Given the description of an element on the screen output the (x, y) to click on. 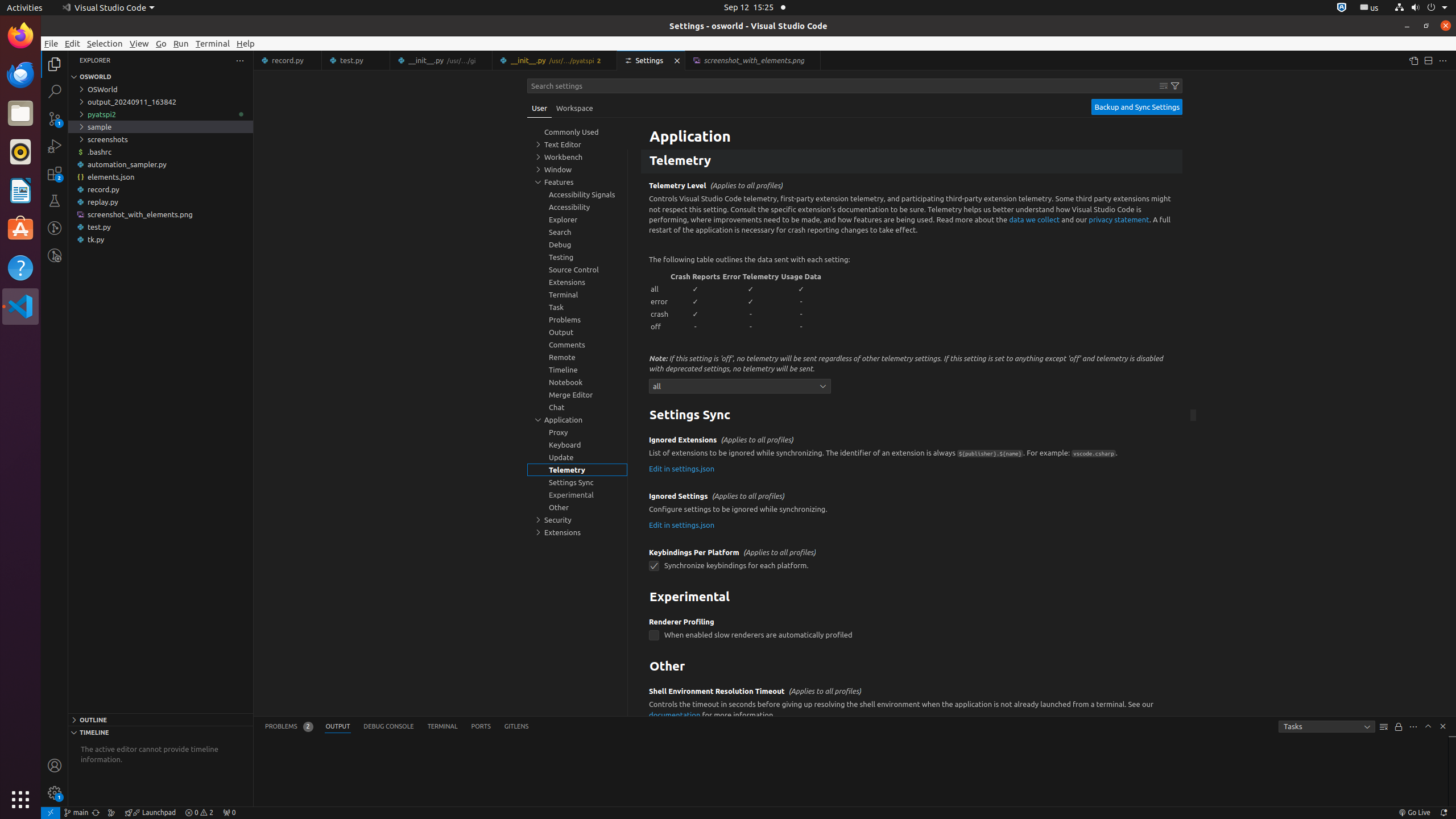
Maximize Panel Size Element type: check-box (1427, 726)
__init__.py Element type: page-tab (554, 60)
Extensions (Ctrl+Shift+X) - 2 require restart Extensions (Ctrl+Shift+X) - 2 require restart Element type: page-tab (54, 173)
rocket gitlens-unplug Launchpad, GitLens Launchpad ᴘʀᴇᴠɪᴇᴡ    &mdash;    [$(question)](command:gitlens.launchpad.indicator.action?%22info%22 "What is this?") [$(gear)](command:workbench.action.openSettings?%22gitlens.launchpad%22 "Settings")  |  [$(circle-slash) Hide](command:gitlens.launchpad.indicator.action?%22hide%22 "Hide") --- [Launchpad](command:gitlens.launchpad.indicator.action?%info%22 "Learn about Launchpad") organizes your pull requests into actionable groups to help you focus and keep your team unblocked. It's always accessible using the `GitLens: Open Launchpad` command from the Command Palette. --- [Connect an integration](command:gitlens.showLaunchpad?%7B%22source%22%3A%22launchpad-indicator%22%7D "Connect an integration") to get started. Element type: push-button (150, 812)
Proxy, group Element type: tree-item (577, 431)
